Given the description of an element on the screen output the (x, y) to click on. 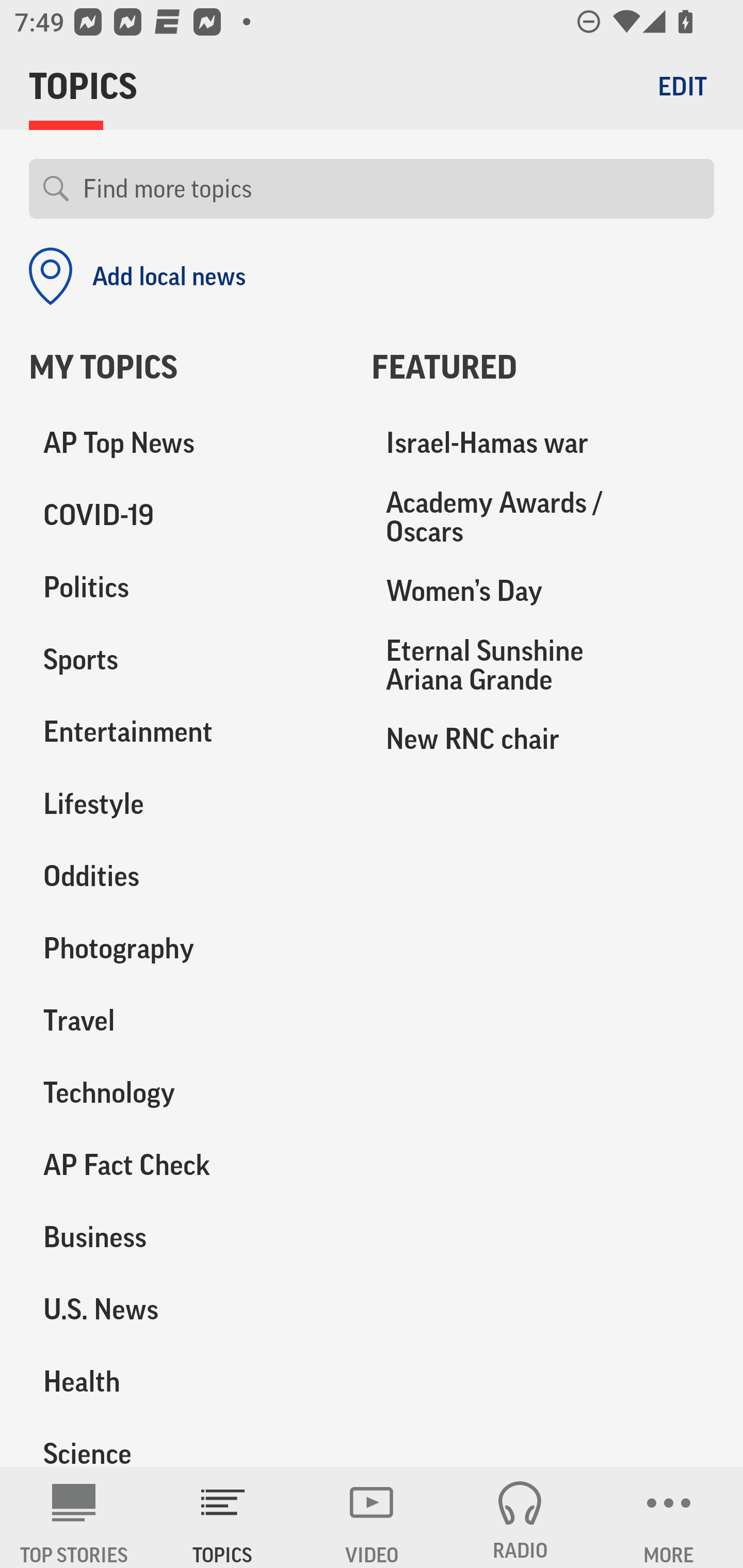
EDIT (682, 86)
Find more topics (391, 188)
Add local news (137, 276)
AP Top News (185, 443)
Israel-Hamas war (542, 443)
COVID-19 (185, 515)
Academy Awards / Oscars (542, 517)
Politics (185, 587)
Women’s Day (542, 591)
Sports (185, 660)
Eternal Sunshine Ariana Grande (542, 664)
Entertainment (185, 732)
New RNC chair (542, 738)
Lifestyle (185, 804)
Oddities (185, 876)
Photography (185, 948)
Travel (185, 1020)
Technology (185, 1092)
AP Fact Check (185, 1164)
Business (185, 1237)
U.S. News (185, 1309)
Health (185, 1381)
Science (185, 1442)
AP News TOP STORIES (74, 1517)
TOPICS (222, 1517)
VIDEO (371, 1517)
RADIO (519, 1517)
MORE (668, 1517)
